Given the description of an element on the screen output the (x, y) to click on. 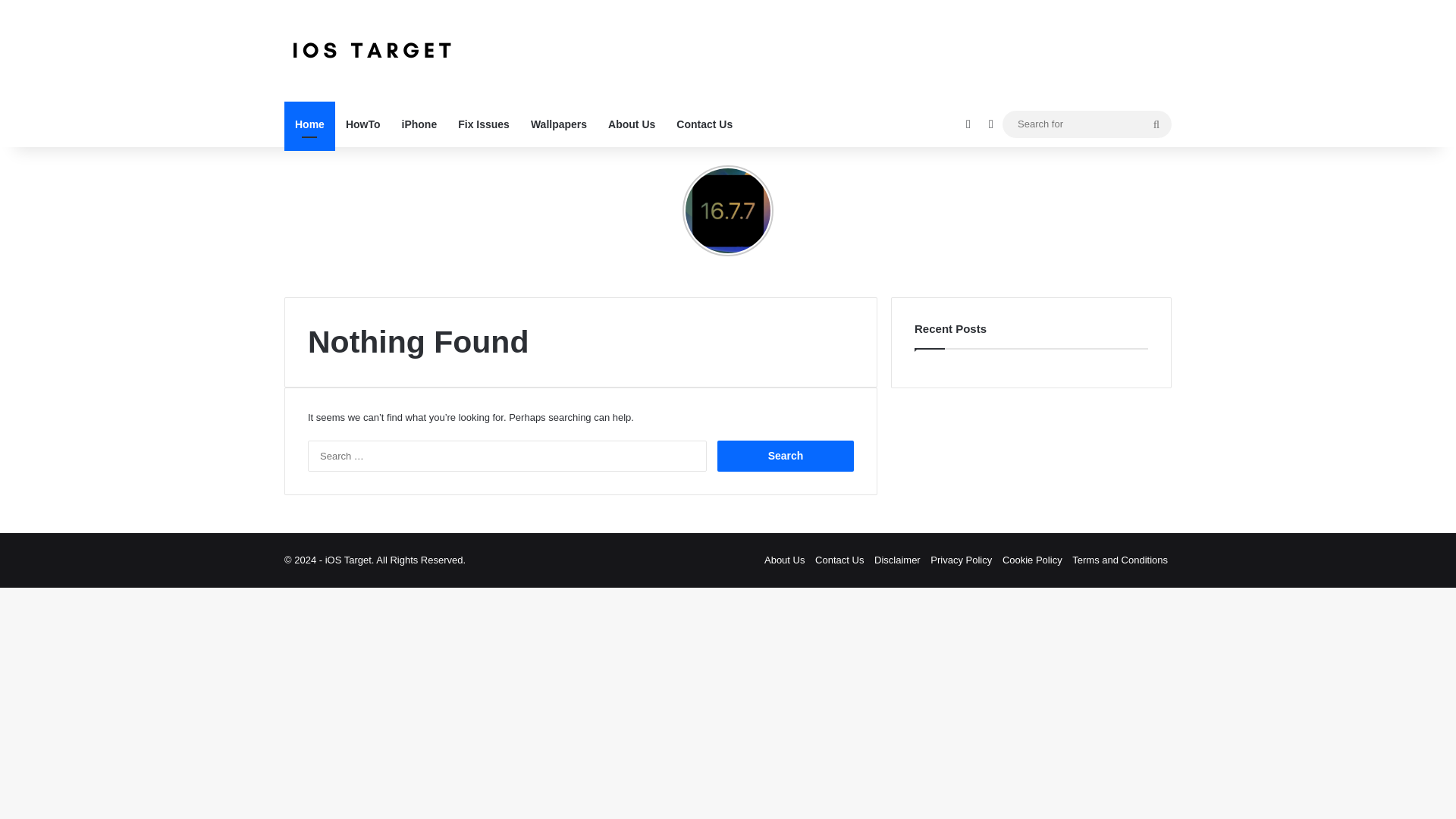
Disclaimer (897, 559)
Wallpapers (557, 124)
Search (785, 455)
HowTo (362, 124)
Privacy Policy (960, 559)
Search for (1156, 124)
Contact Us (839, 559)
About Us (784, 559)
Cookie Policy (1032, 559)
Home (308, 124)
Search for (1087, 123)
Contact Us (703, 124)
iOS Target (370, 50)
Search (785, 455)
Terms and Conditions (1119, 559)
